Given the description of an element on the screen output the (x, y) to click on. 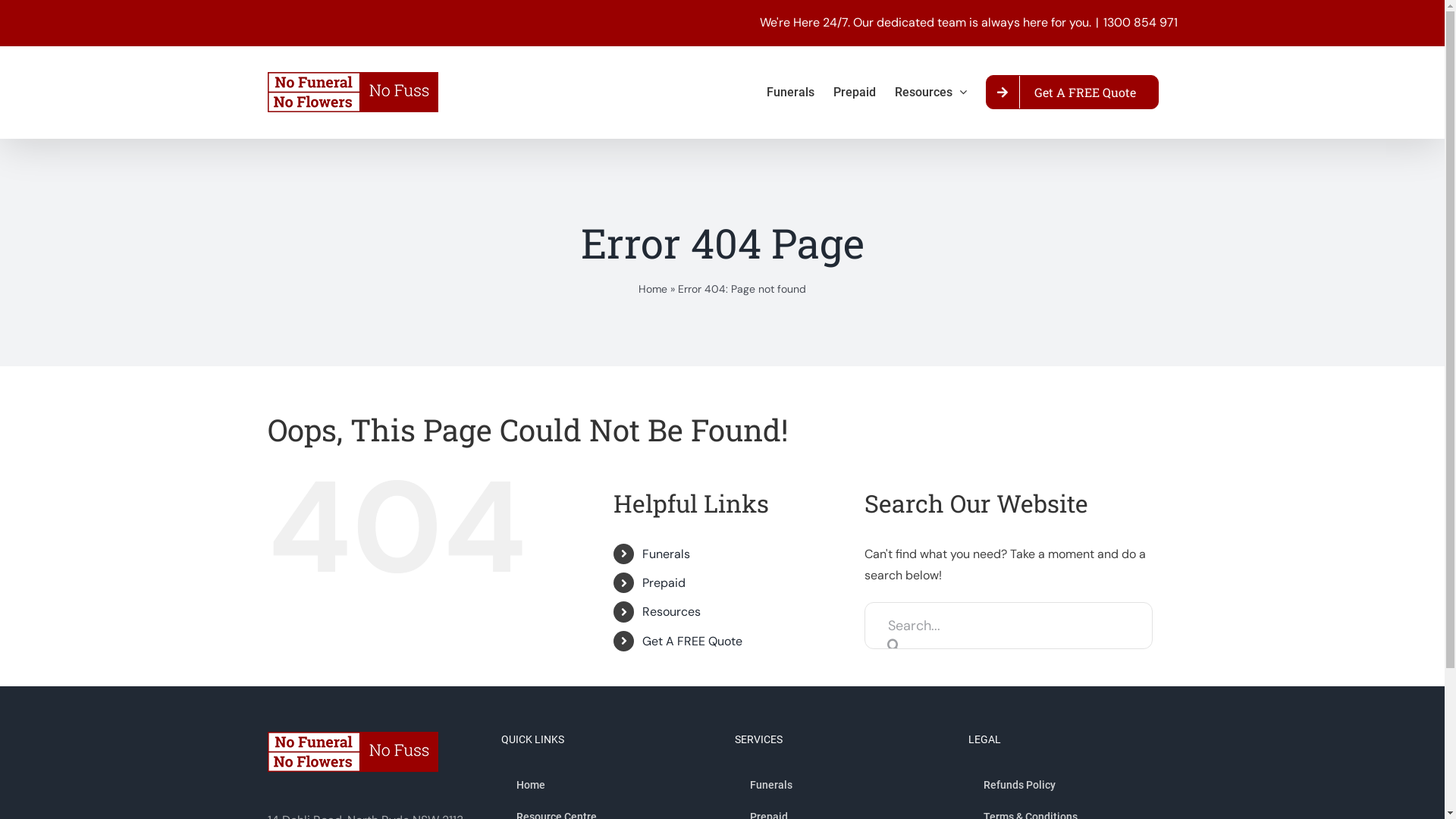
Get A FREE Quote Element type: text (1071, 92)
Funerals Element type: text (838, 784)
Refunds Policy Element type: text (1071, 784)
Home Element type: text (652, 288)
1300 854 971 Element type: text (1139, 22)
Funerals Element type: text (789, 92)
Funerals Element type: text (666, 553)
Home Element type: text (604, 784)
Resources Element type: text (930, 92)
Resources Element type: text (671, 611)
Get A FREE Quote Element type: text (692, 641)
Prepaid Element type: text (663, 582)
Prepaid Element type: text (853, 92)
